Given the description of an element on the screen output the (x, y) to click on. 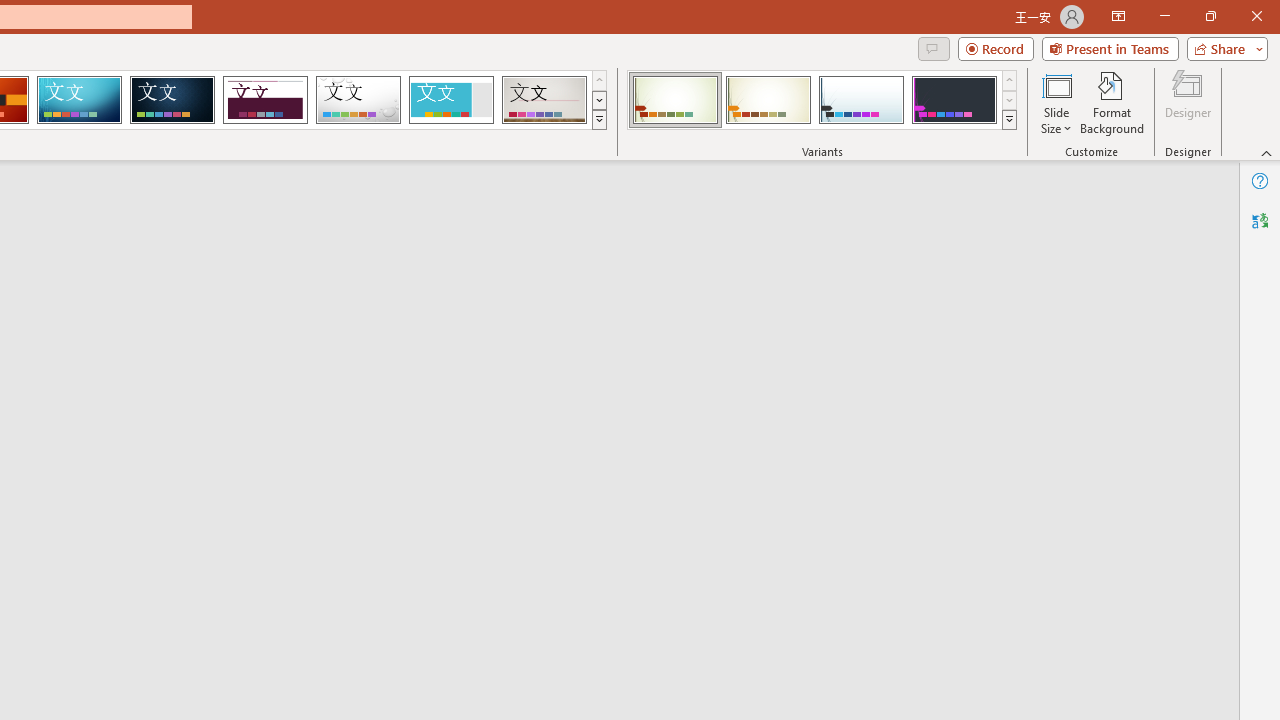
Frame (450, 100)
AutomationID: ThemeVariantsGallery (822, 99)
Translator (1260, 220)
Row up (1009, 79)
Slide Size (1056, 102)
Themes (598, 120)
Dividend (265, 100)
Wisp Variant 1 (674, 100)
Class: NetUIImage (1009, 119)
